Given the description of an element on the screen output the (x, y) to click on. 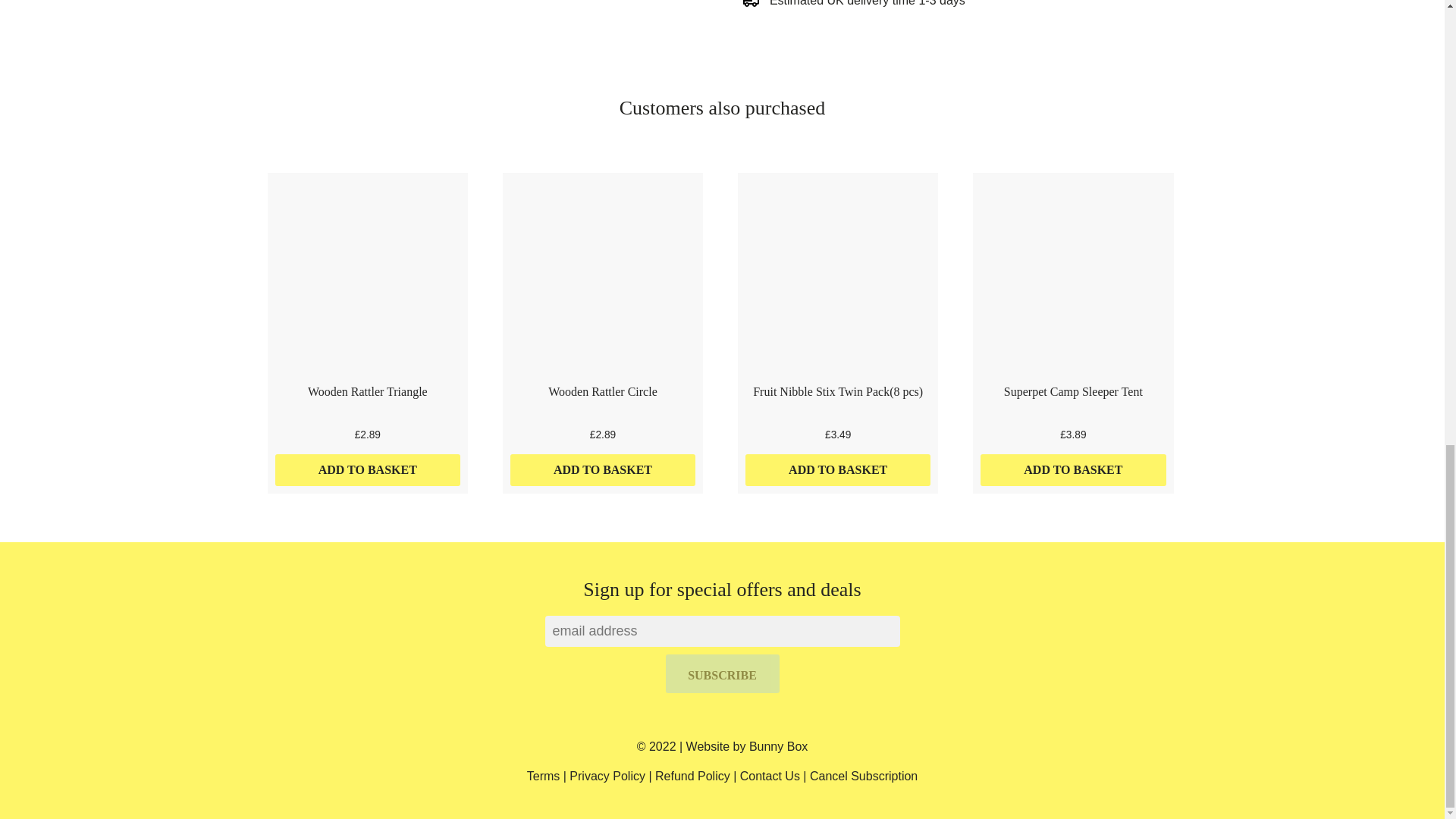
Refund Policy (692, 775)
Subscribe (721, 673)
ADD TO BASKET (367, 470)
Contact Us (769, 775)
Privacy Policy (607, 775)
Terms (543, 775)
ADD TO BASKET (1072, 470)
Cancel Subscription (863, 775)
Subscribe (721, 673)
Bunny Box (778, 746)
ADD TO BASKET (838, 470)
ADD TO BASKET (603, 470)
